Given the description of an element on the screen output the (x, y) to click on. 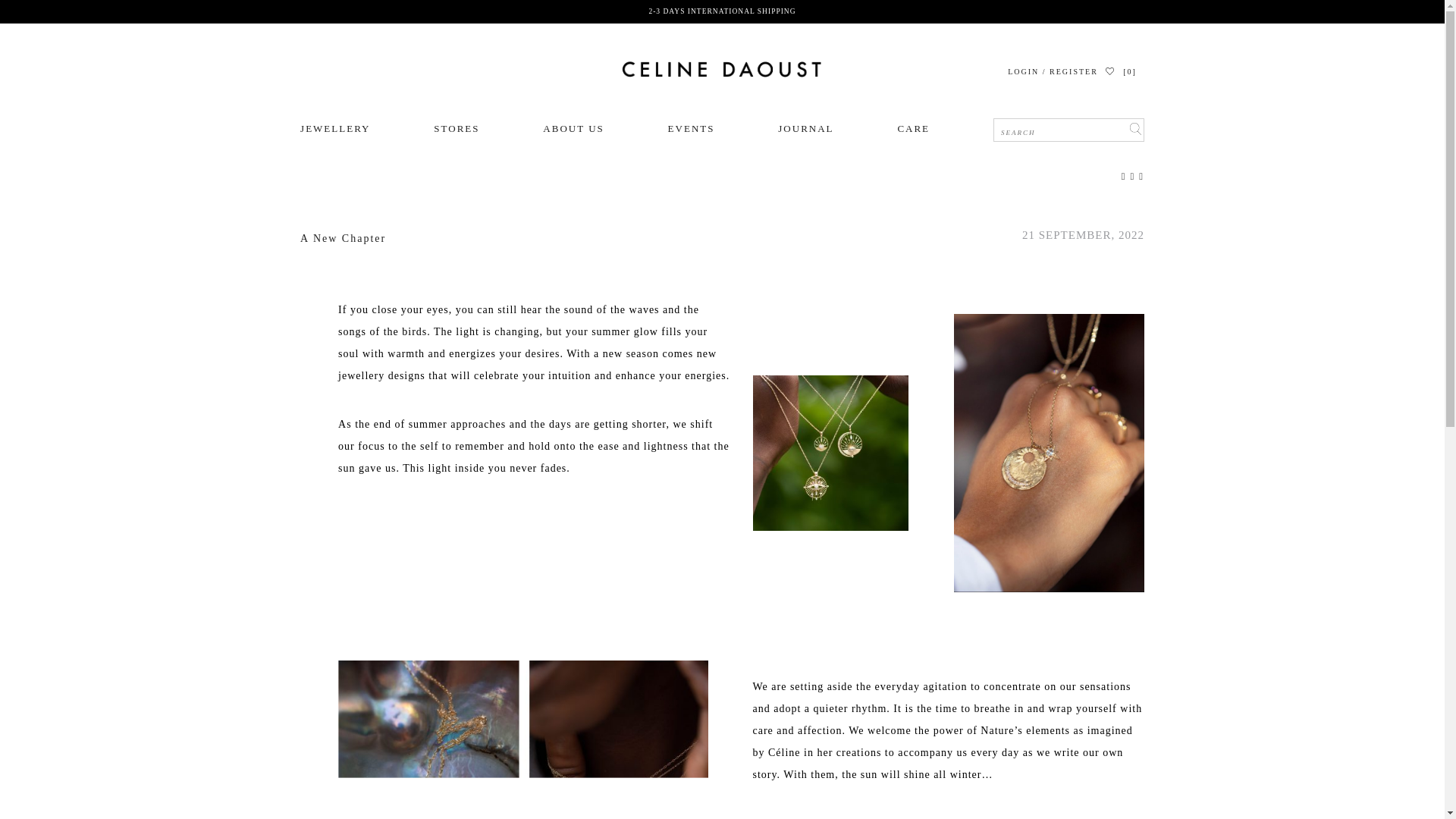
CARE (913, 128)
Page 1 (947, 730)
EVENTS (691, 128)
JOURNAL (804, 128)
ABOUT US (573, 128)
STORES (456, 128)
View cart (1129, 71)
Celine Daoust (721, 70)
JEWELLERY (334, 128)
